Given the description of an element on the screen output the (x, y) to click on. 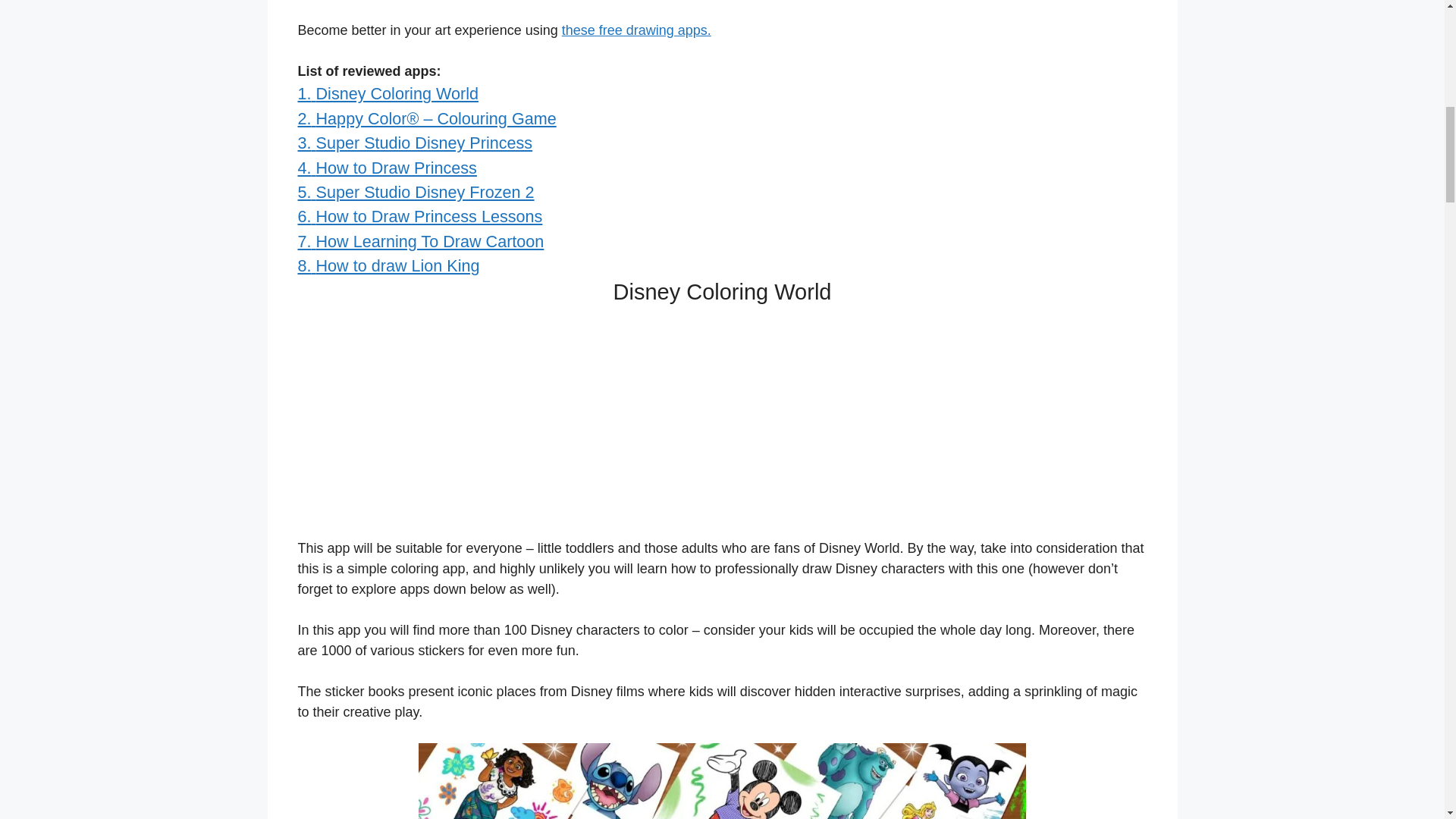
these free drawing apps. (636, 29)
Scroll back to top (1406, 720)
6. How to Draw Princess Lessons (419, 216)
7. How Learning To Draw Cartoon (420, 240)
4. How to Draw Princess (386, 167)
8. How to draw Lion King (388, 265)
1. Disney Coloring World (387, 93)
3. Super Studio Disney Princess (414, 142)
5. Super Studio Disney Frozen 2 (415, 191)
